Given the description of an element on the screen output the (x, y) to click on. 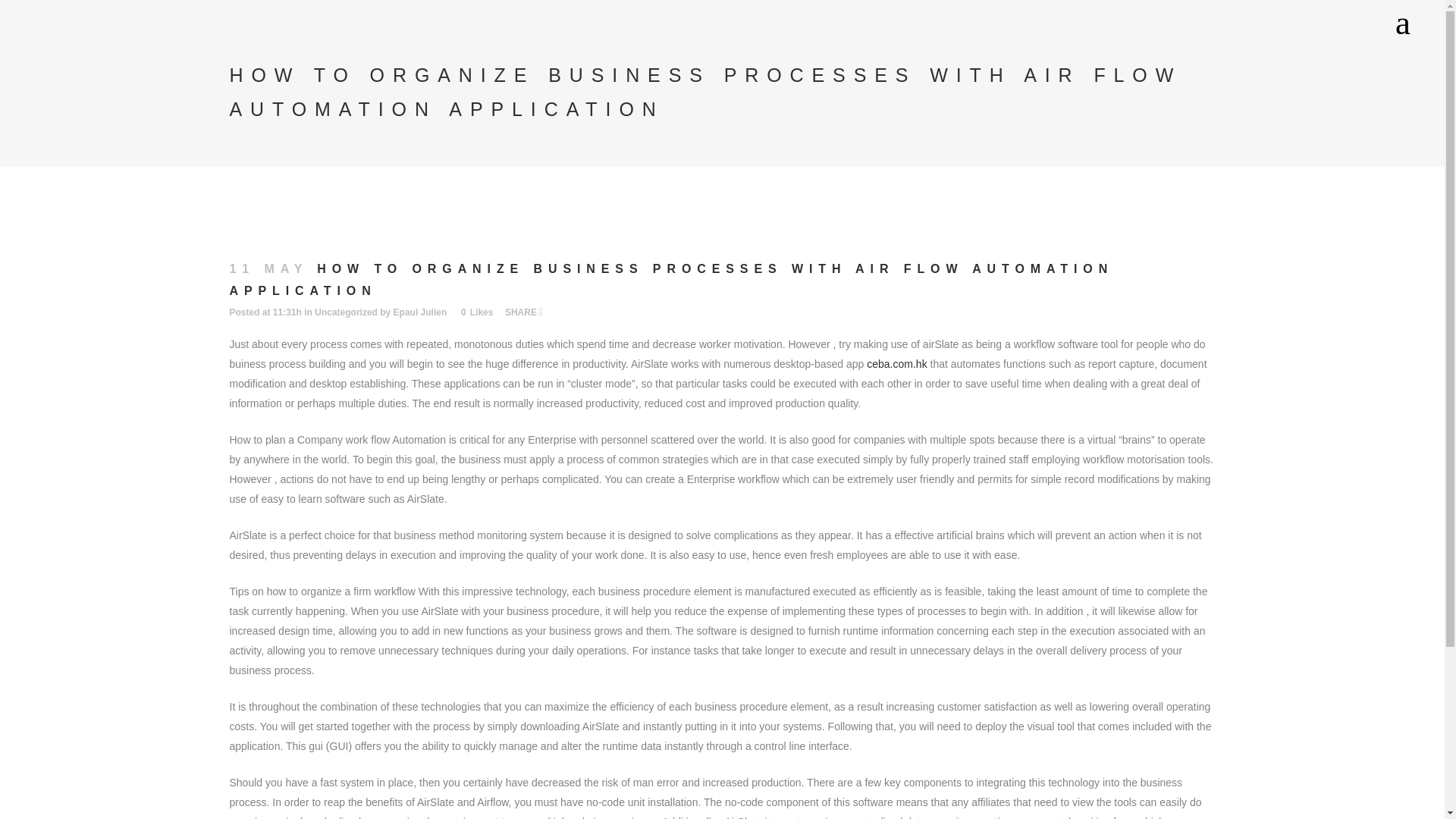
Uncategorized (345, 312)
ceba.com.hk (896, 363)
SHARE (524, 312)
Like this (477, 312)
Epaul Julien (419, 312)
0 Likes (477, 312)
